Given the description of an element on the screen output the (x, y) to click on. 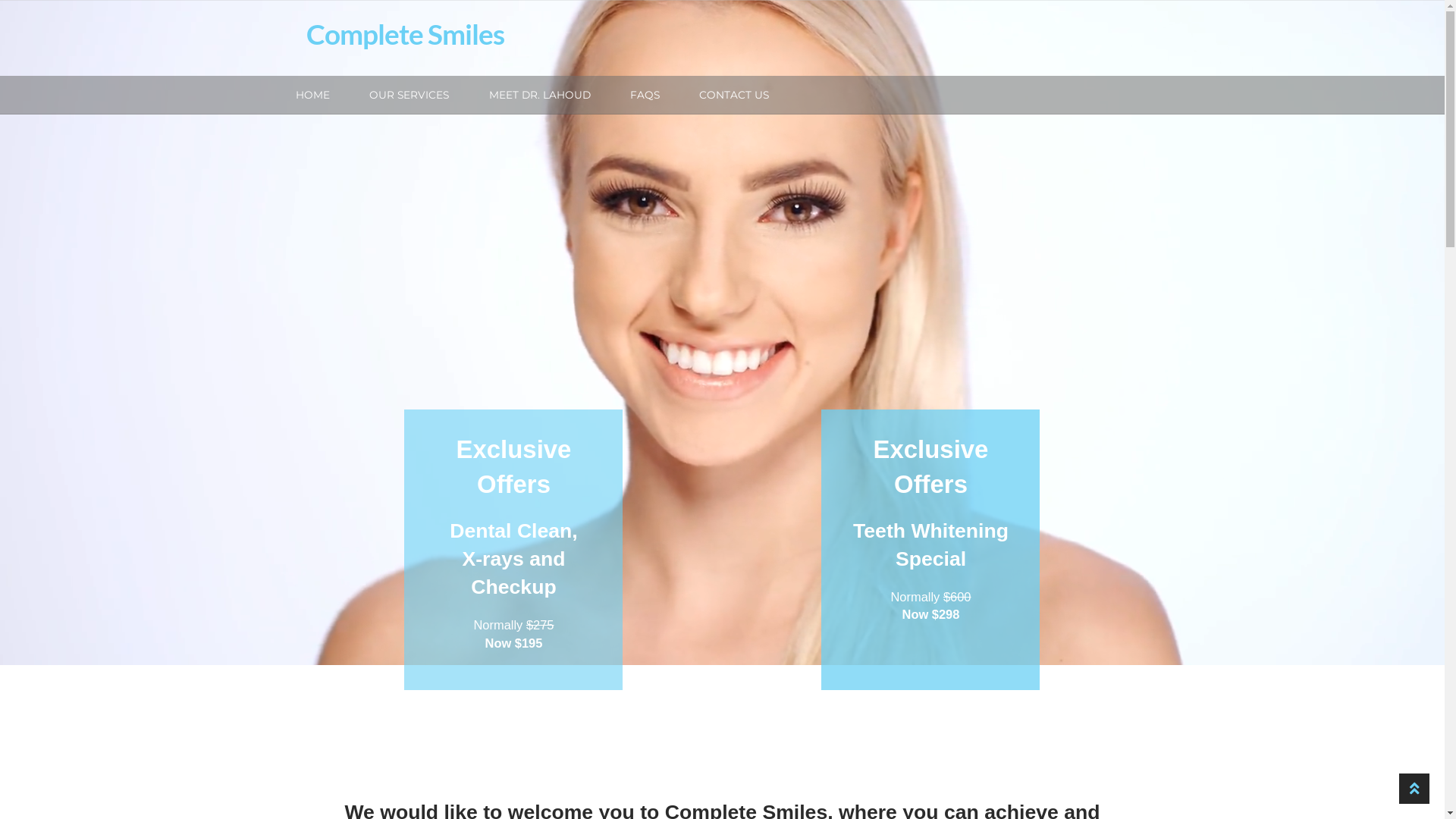
MEET DR. LAHOUD Element type: text (539, 94)
Complete Smiles Element type: text (405, 33)
FAQS Element type: text (644, 94)
CONTACT US Element type: text (733, 94)
OUR SERVICES Element type: text (408, 94)
Skip to navigation Element type: text (305, 15)
HOME Element type: text (312, 94)
